Given the description of an element on the screen output the (x, y) to click on. 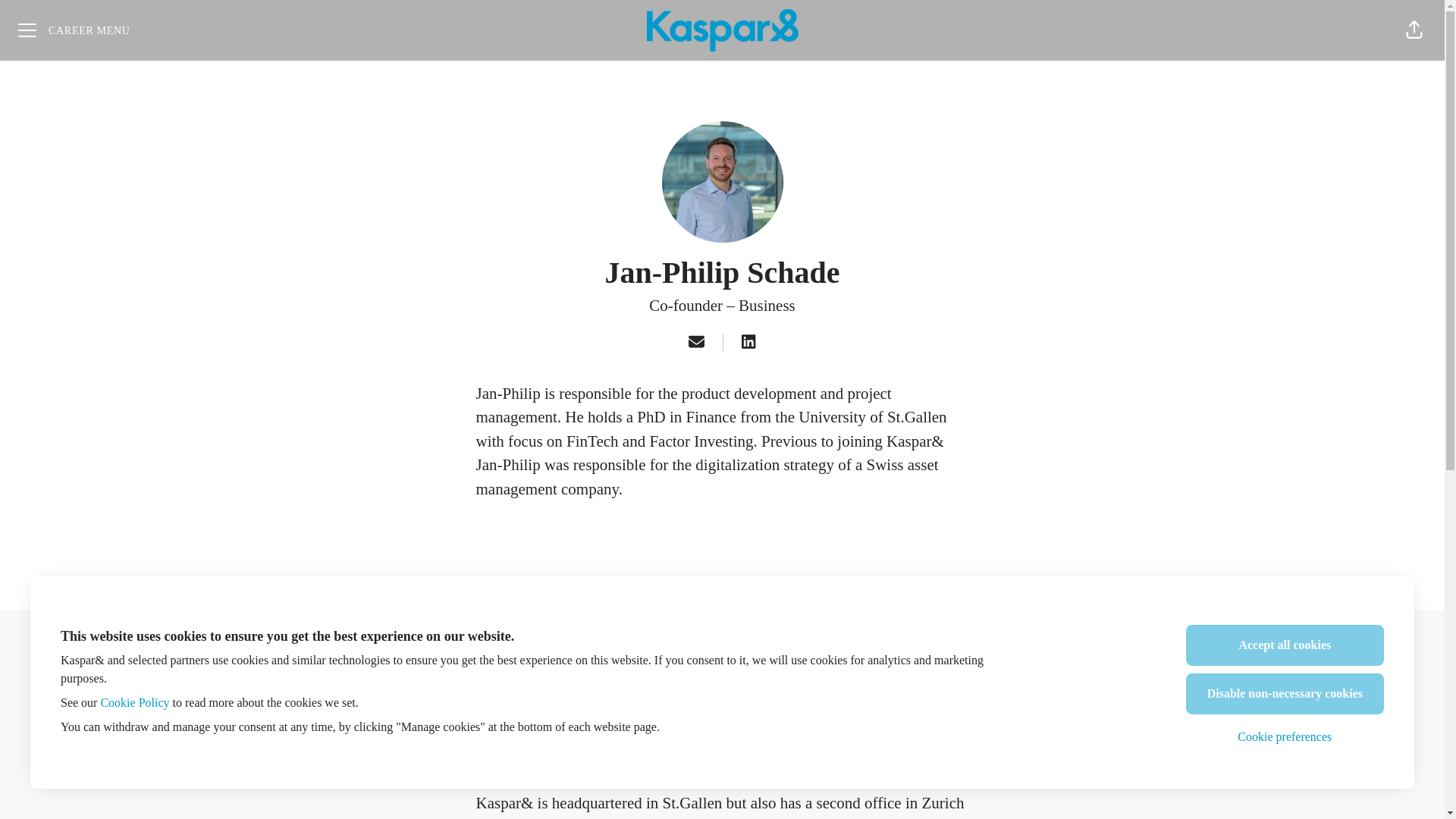
Cookie Policy (134, 702)
Cookie preferences (1284, 736)
Accept all cookies (1285, 644)
Share page (1414, 30)
Email (696, 342)
Career menu (73, 30)
CAREER MENU (73, 30)
Disable non-necessary cookies (1285, 693)
